Given the description of an element on the screen output the (x, y) to click on. 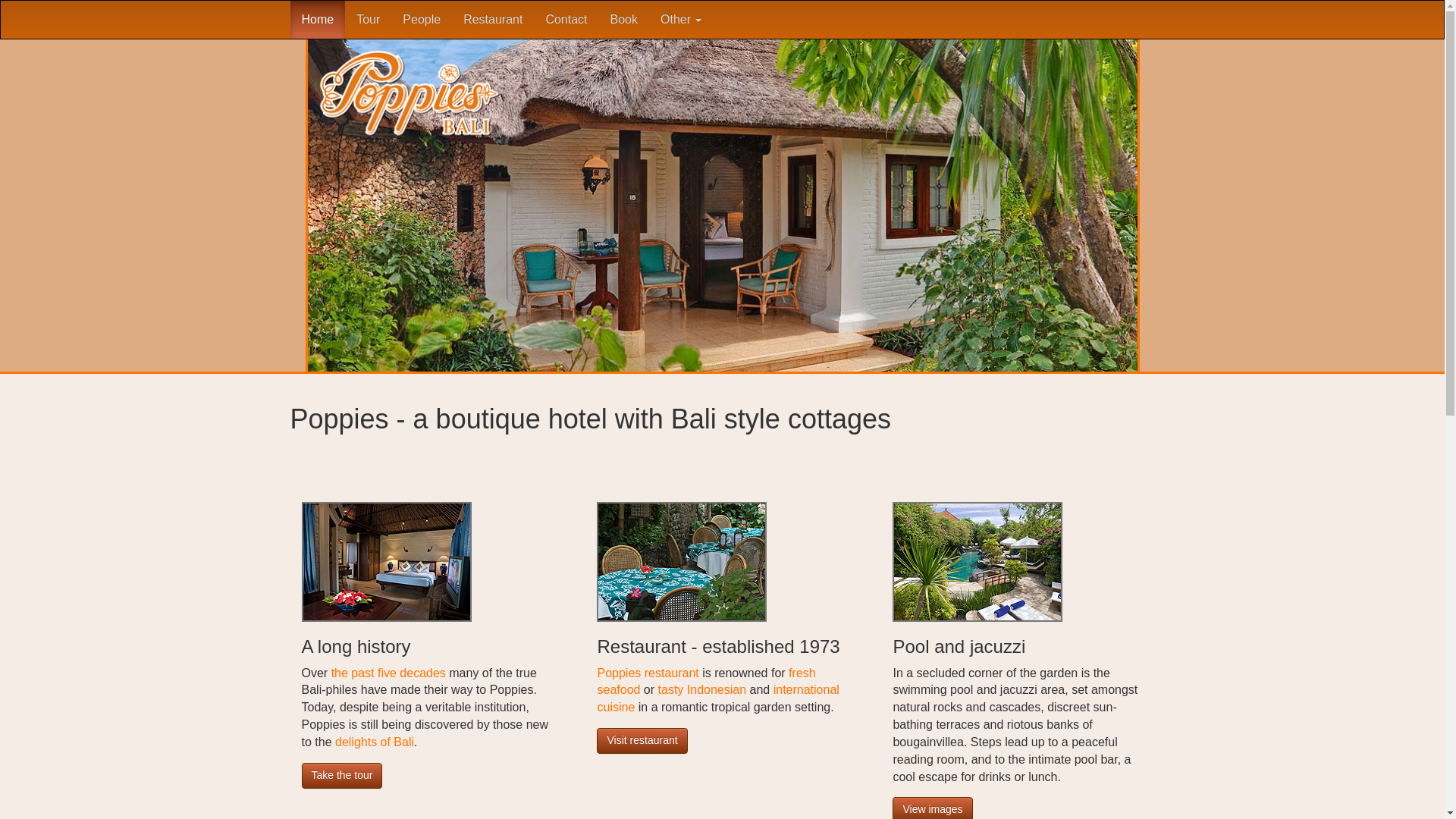
international cuisine (717, 698)
People (421, 19)
delights of Bali (373, 741)
tasty Indonesian (702, 689)
Contact (566, 19)
Poppies restaurant (647, 672)
fresh seafood (705, 681)
Tour (368, 19)
View images (932, 807)
Take the tour (341, 775)
Book (623, 19)
the past five decades (388, 672)
Restaurant (492, 19)
Home (317, 19)
Other (681, 19)
